Given the description of an element on the screen output the (x, y) to click on. 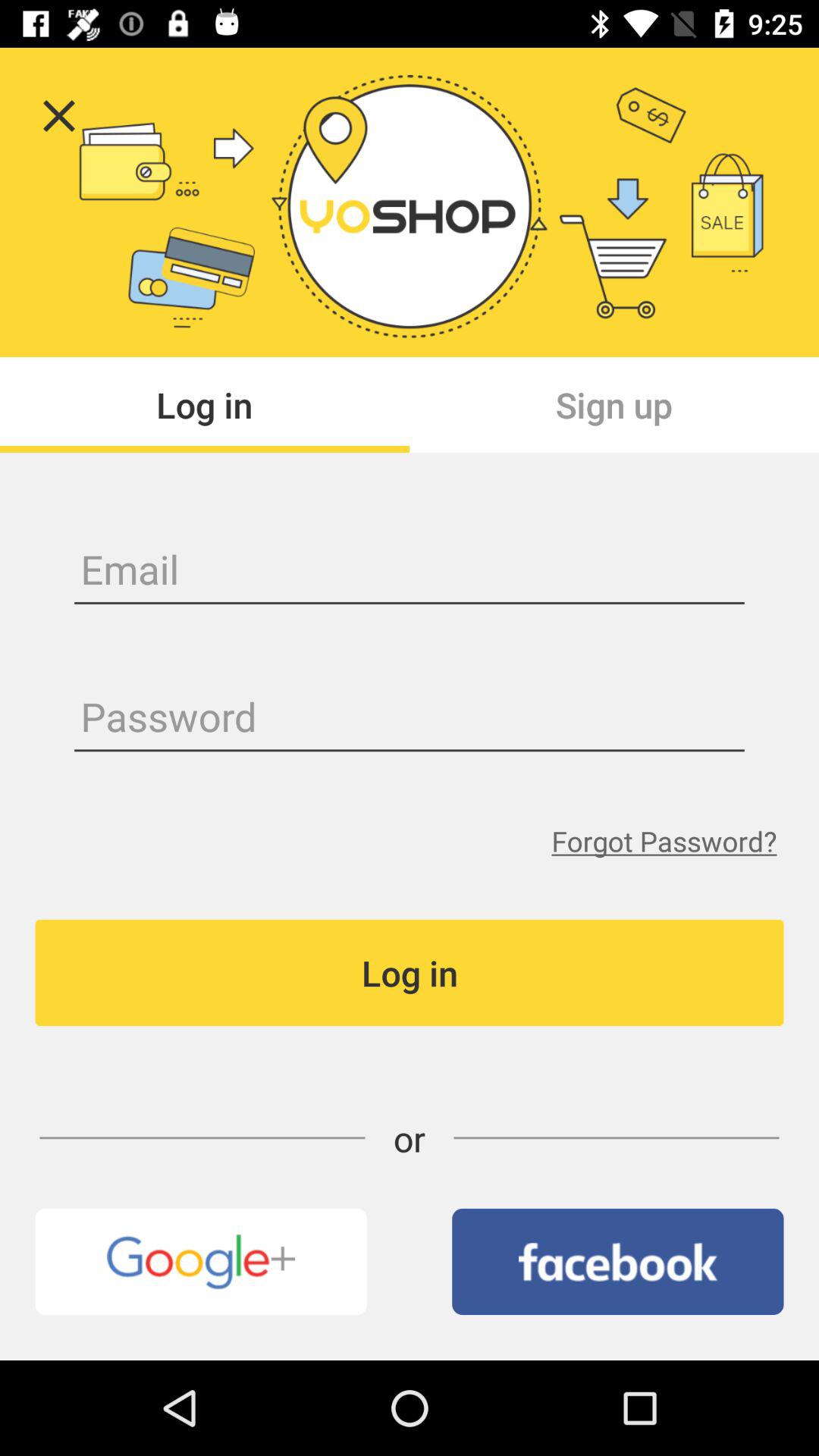
enter email address (409, 571)
